Given the description of an element on the screen output the (x, y) to click on. 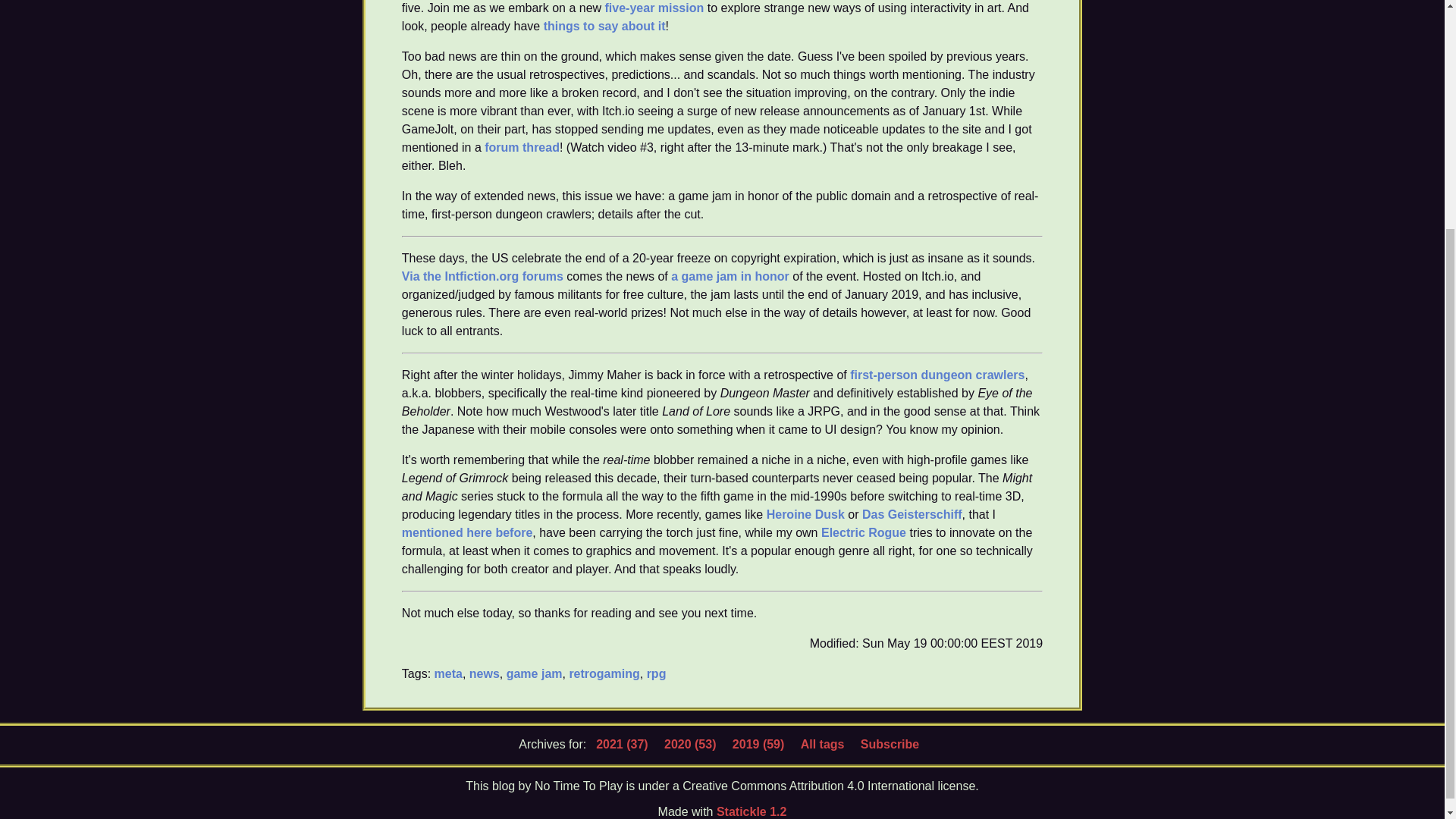
things to say about it (604, 24)
a game jam in honor (730, 275)
five-year mission (654, 6)
rpg (656, 672)
Das Geisterschiff (911, 513)
Statickle 1.2 (751, 811)
mentioned here before (466, 531)
retrogaming (604, 672)
Heroine Dusk (805, 513)
forum thread (521, 146)
Via the Intfiction.org forums (482, 275)
game jam (534, 672)
first-person dungeon crawlers (937, 373)
Subscribe (889, 744)
meta (448, 672)
